Given the description of an element on the screen output the (x, y) to click on. 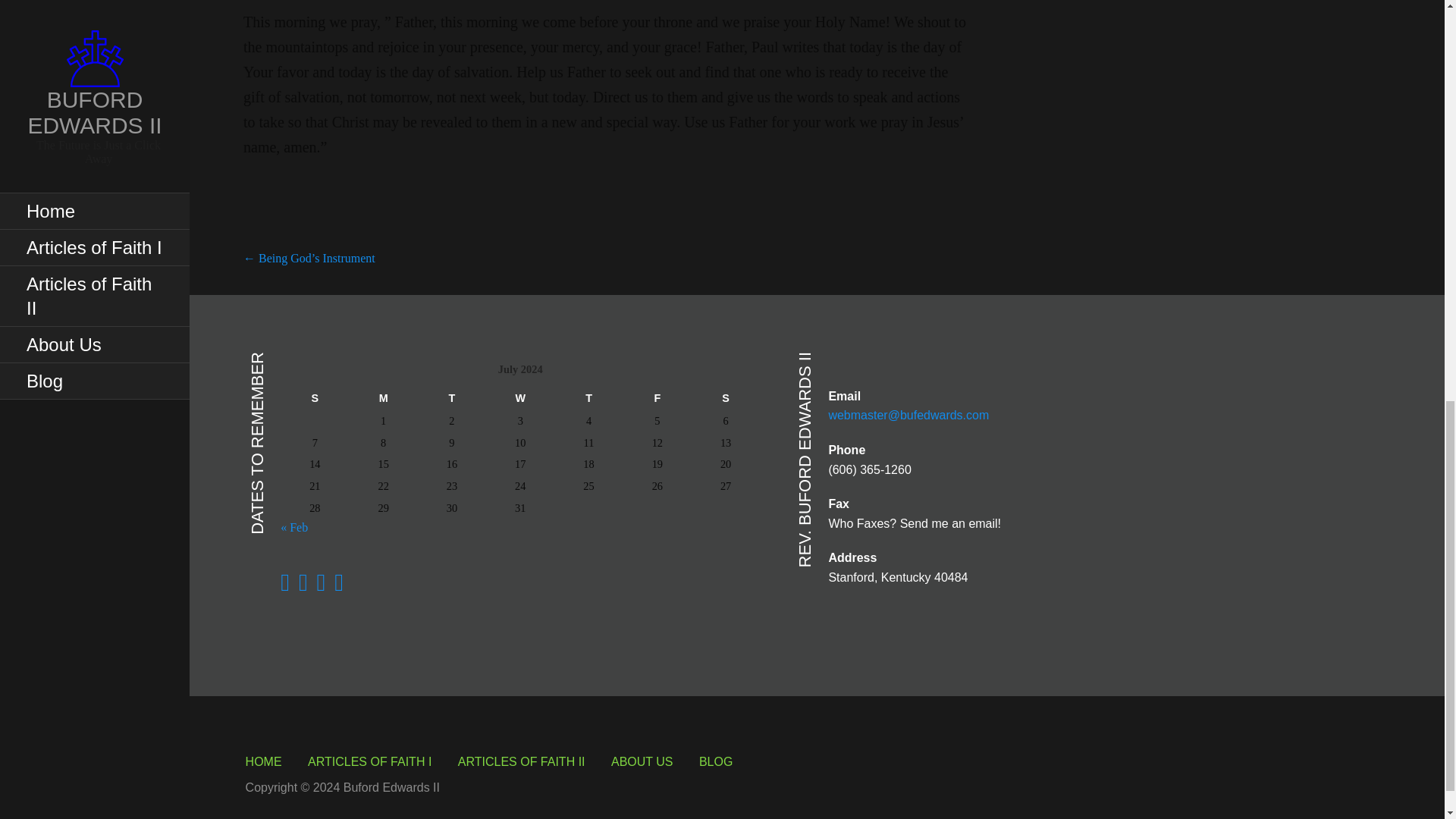
HOME (264, 761)
Thursday (588, 397)
Sunday (315, 397)
BLOG (715, 761)
Monday (382, 397)
ARTICLES OF FAITH I (368, 761)
Tuesday (451, 397)
ABOUT US (641, 761)
Wednesday (520, 397)
ARTICLES OF FAITH II (521, 761)
Saturday (725, 397)
Friday (657, 397)
